Given the description of an element on the screen output the (x, y) to click on. 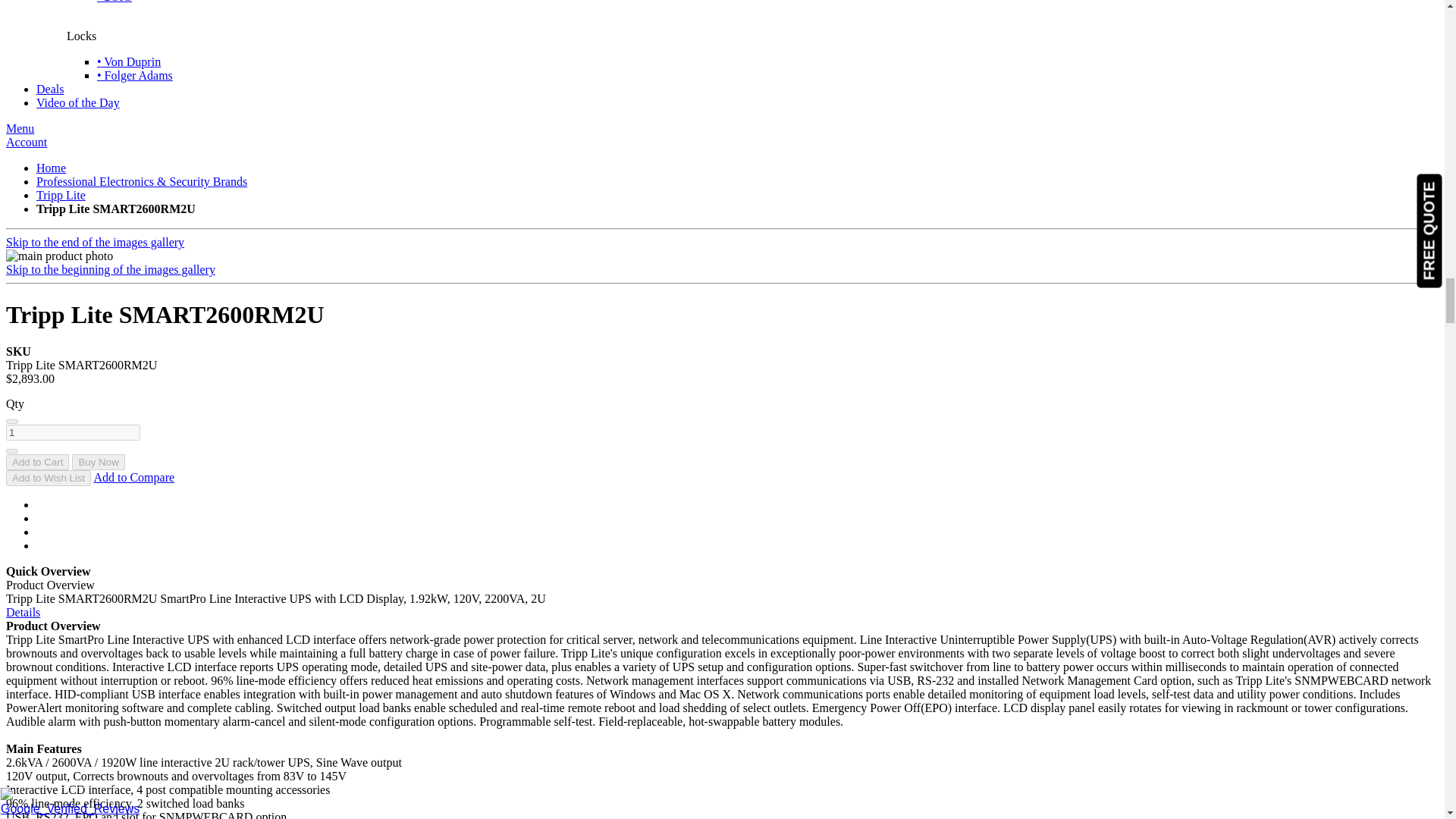
Add to Cart (36, 462)
Decrease (11, 421)
Buy Now (97, 462)
Go to Home Page (50, 167)
1 (72, 432)
Tripp Lite (60, 195)
Qty (72, 432)
Increase (11, 450)
